Given the description of an element on the screen output the (x, y) to click on. 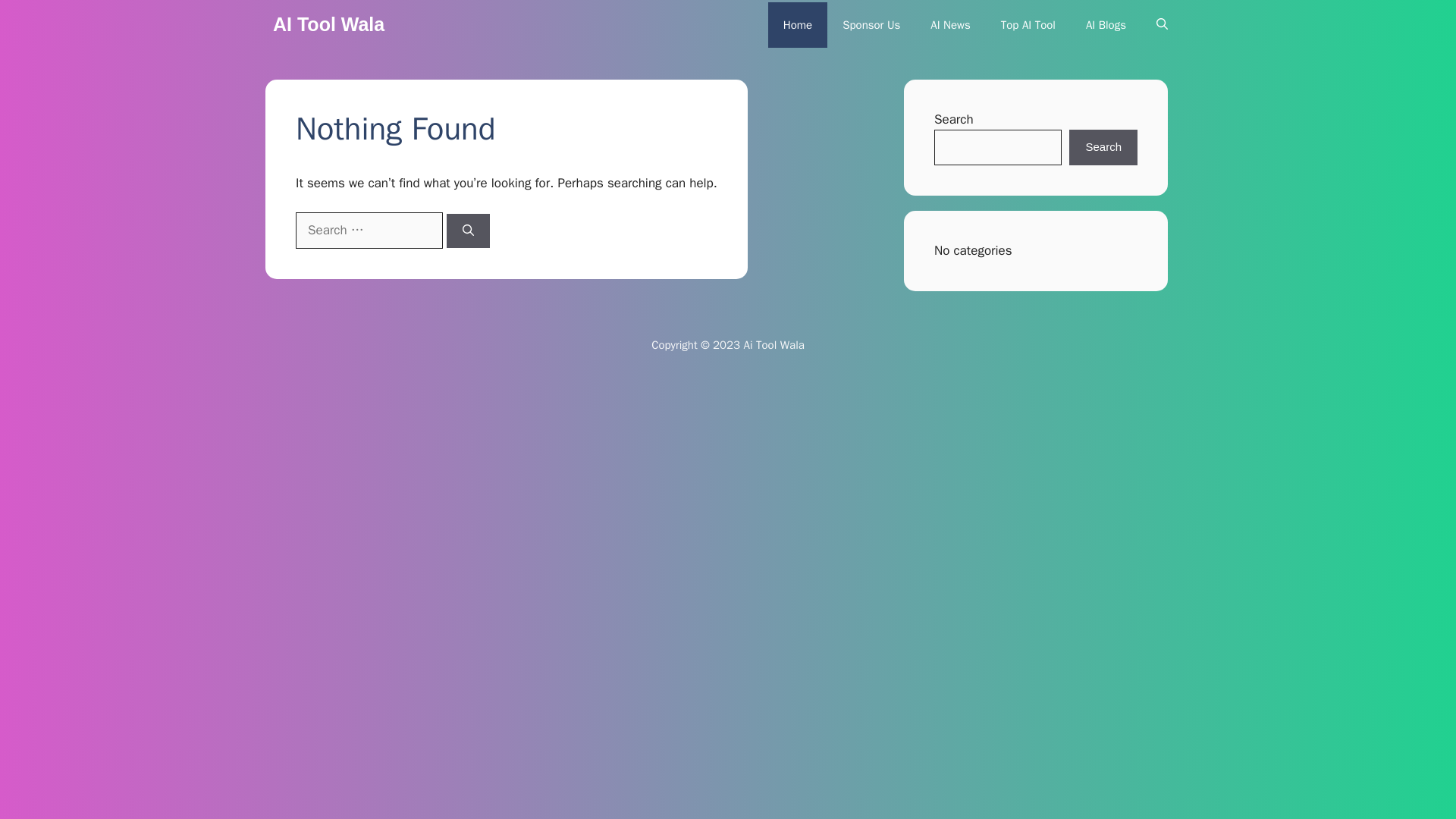
AI Blogs (1105, 23)
Top AI Tool (1027, 23)
Home (797, 23)
AI News (950, 23)
AI Tool Wala (328, 24)
Search for: (368, 230)
Sponsor Us (871, 23)
Search (1102, 146)
